Given the description of an element on the screen output the (x, y) to click on. 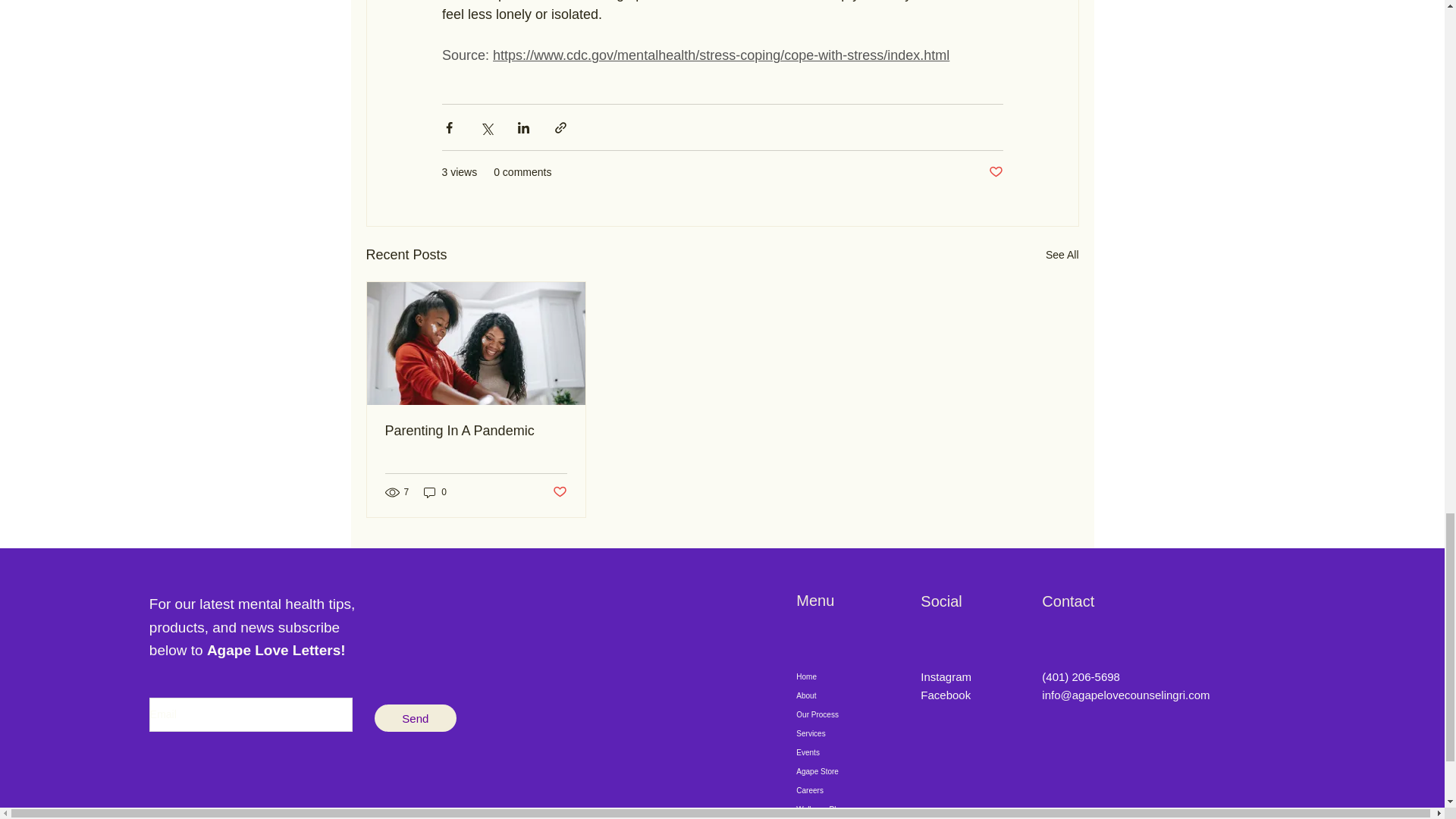
Facebook (945, 694)
Send (415, 718)
About (841, 695)
Services (841, 732)
See All (1061, 255)
Careers (841, 790)
Events (841, 752)
0 (435, 492)
Wellness Plans (841, 809)
Parenting In A Pandemic (476, 430)
